Given the description of an element on the screen output the (x, y) to click on. 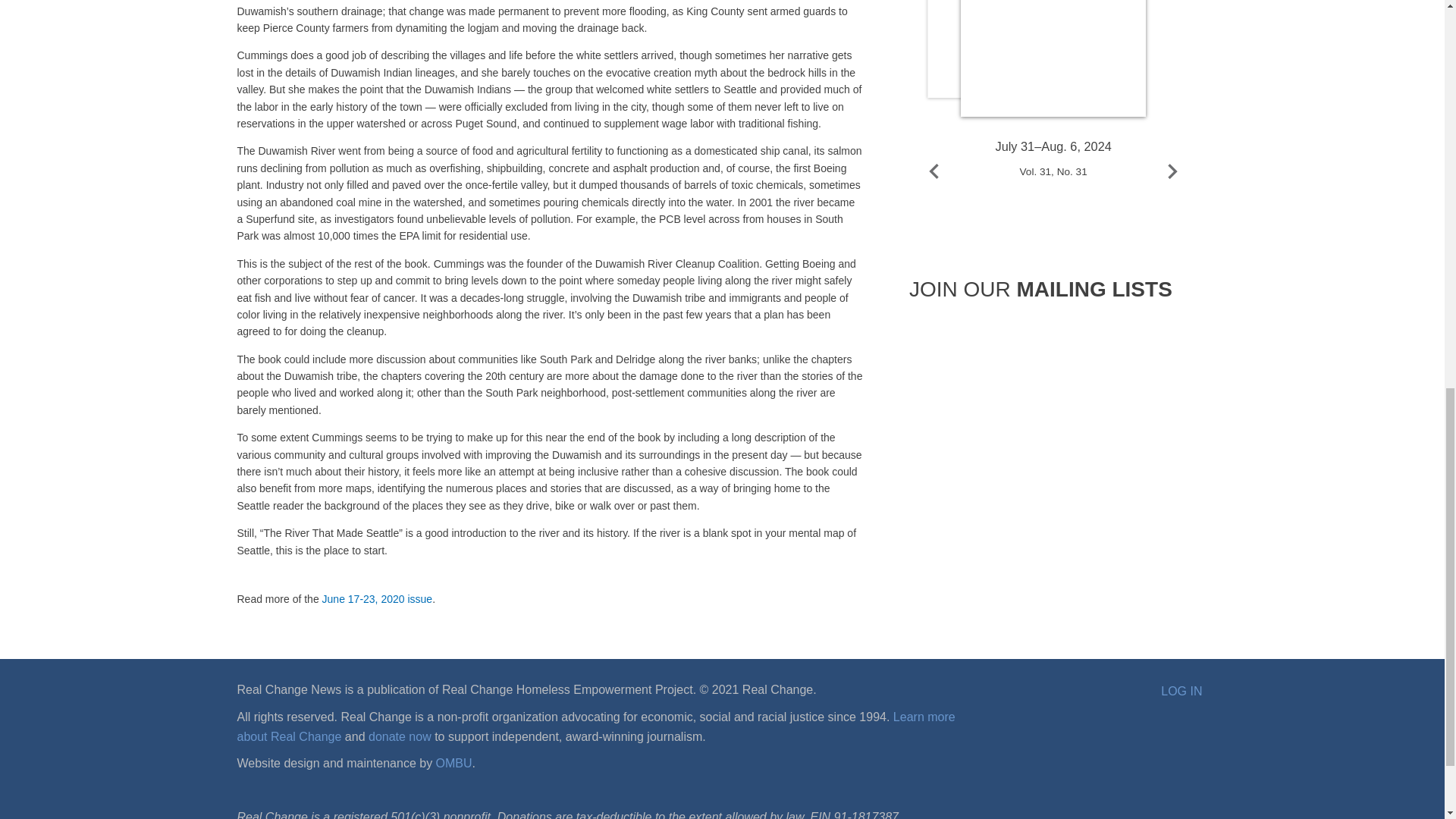
Previous issue (933, 171)
June 17-23, 2020 issue (376, 598)
LOG IN (1181, 691)
OMBU (453, 762)
Learn more about Real Change (595, 726)
donate now (399, 736)
Next issue (1172, 171)
